Given the description of an element on the screen output the (x, y) to click on. 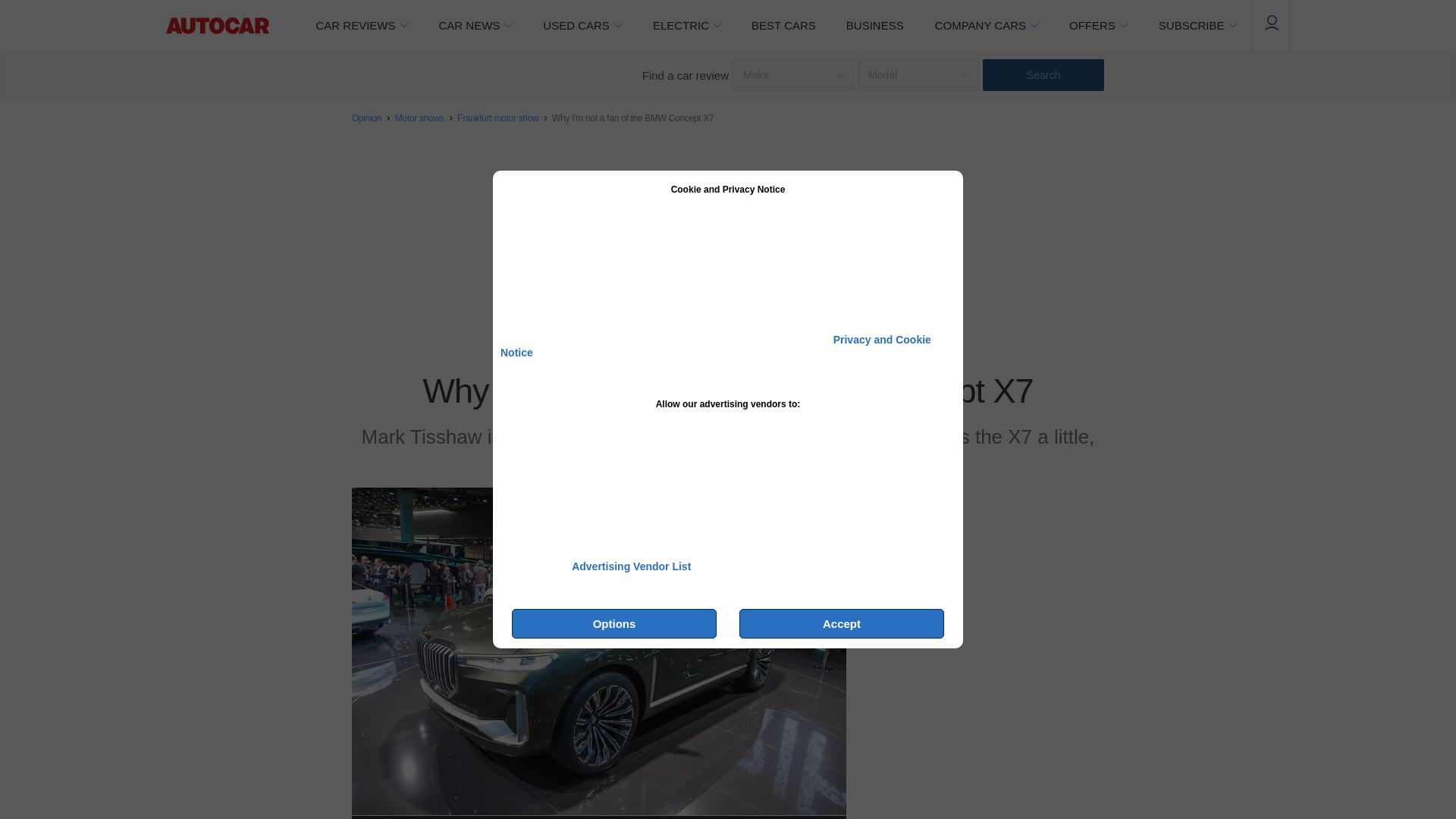
CAR REVIEWS (360, 26)
Search (1042, 74)
SUBSCRIBE (1197, 26)
ELECTRIC (686, 26)
CAR NEWS (475, 26)
BUSINESS (874, 26)
OFFERS (1097, 26)
Autocar Business news, insight and opinion (874, 26)
Home (217, 25)
Top 10 cars by segment (783, 26)
